Given the description of an element on the screen output the (x, y) to click on. 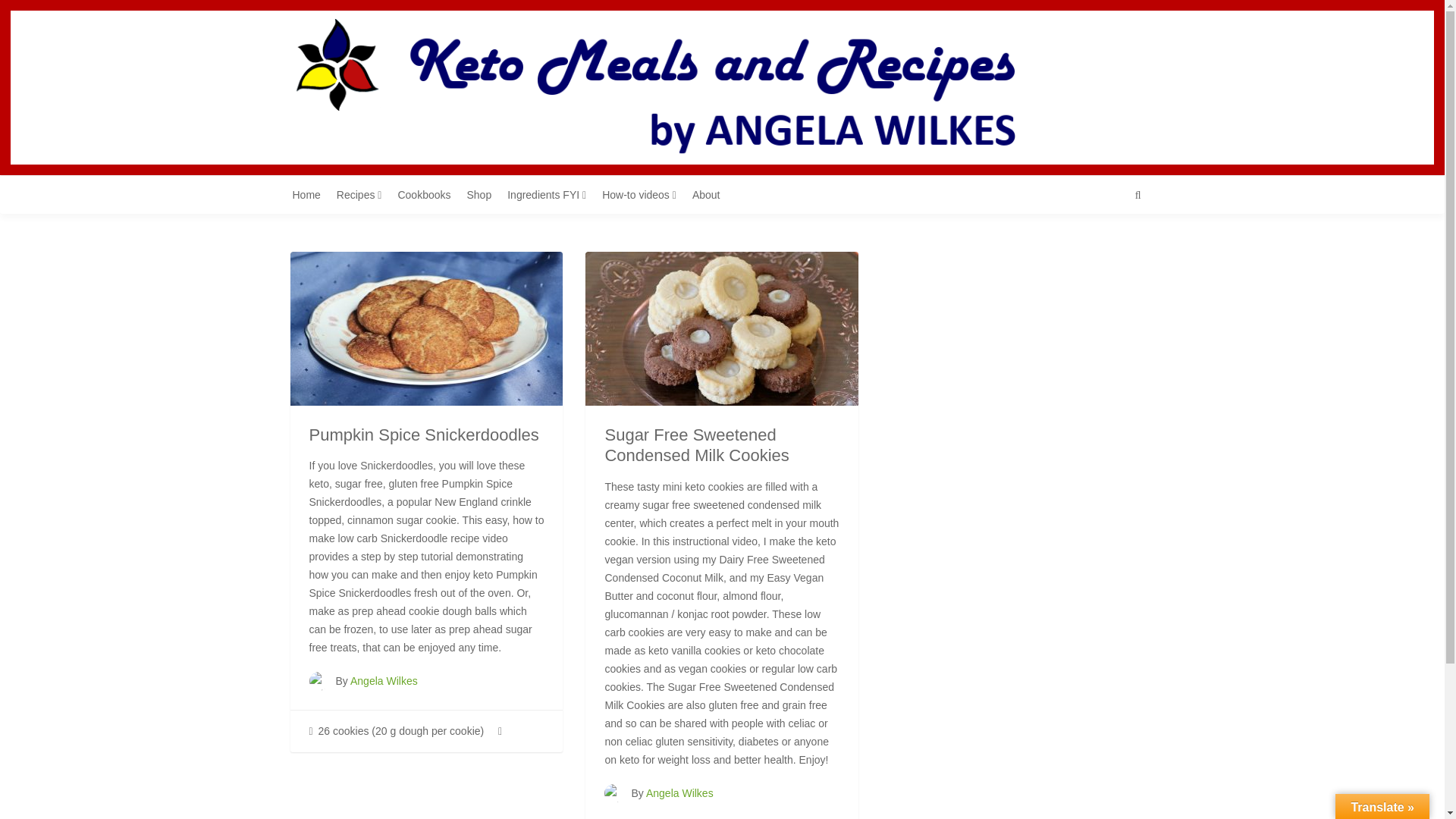
Shop (485, 194)
REGISTER (1118, 75)
LOG IN (1126, 100)
Recipes (364, 194)
How-to videos (644, 194)
Cookbooks (429, 194)
Ingredients FYI (551, 194)
About (712, 194)
Home (311, 194)
